Given the description of an element on the screen output the (x, y) to click on. 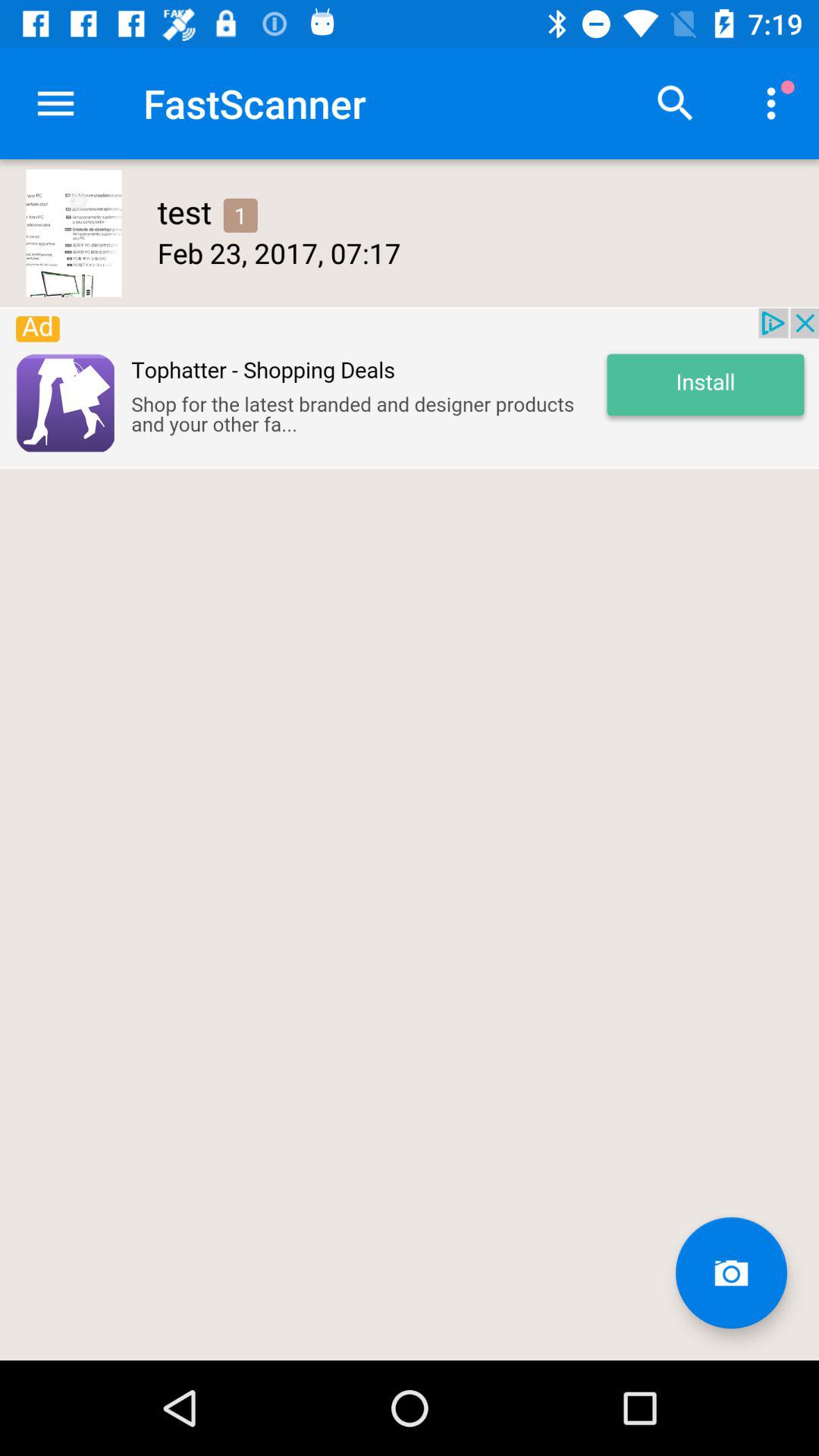
press menu button (55, 103)
